Given the description of an element on the screen output the (x, y) to click on. 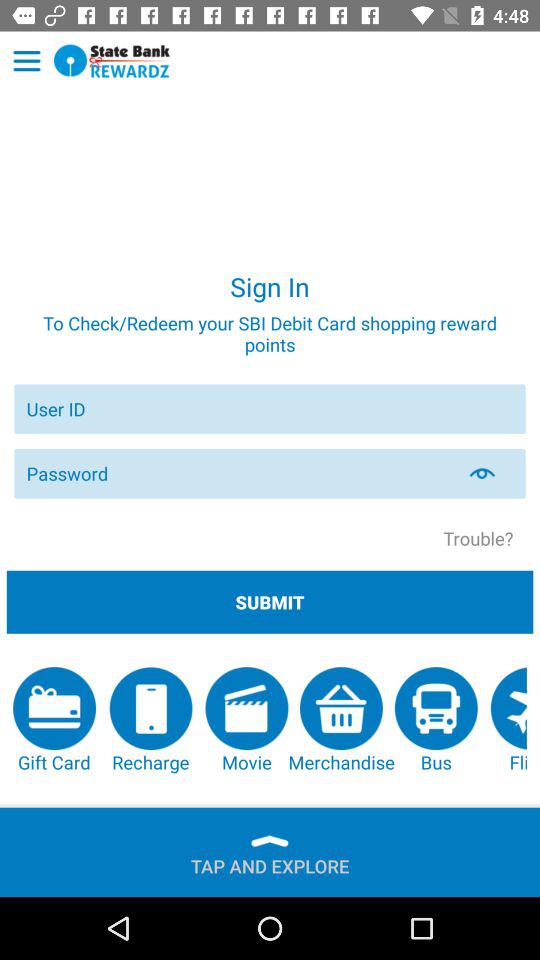
select app below trouble? (269, 601)
